Given the description of an element on the screen output the (x, y) to click on. 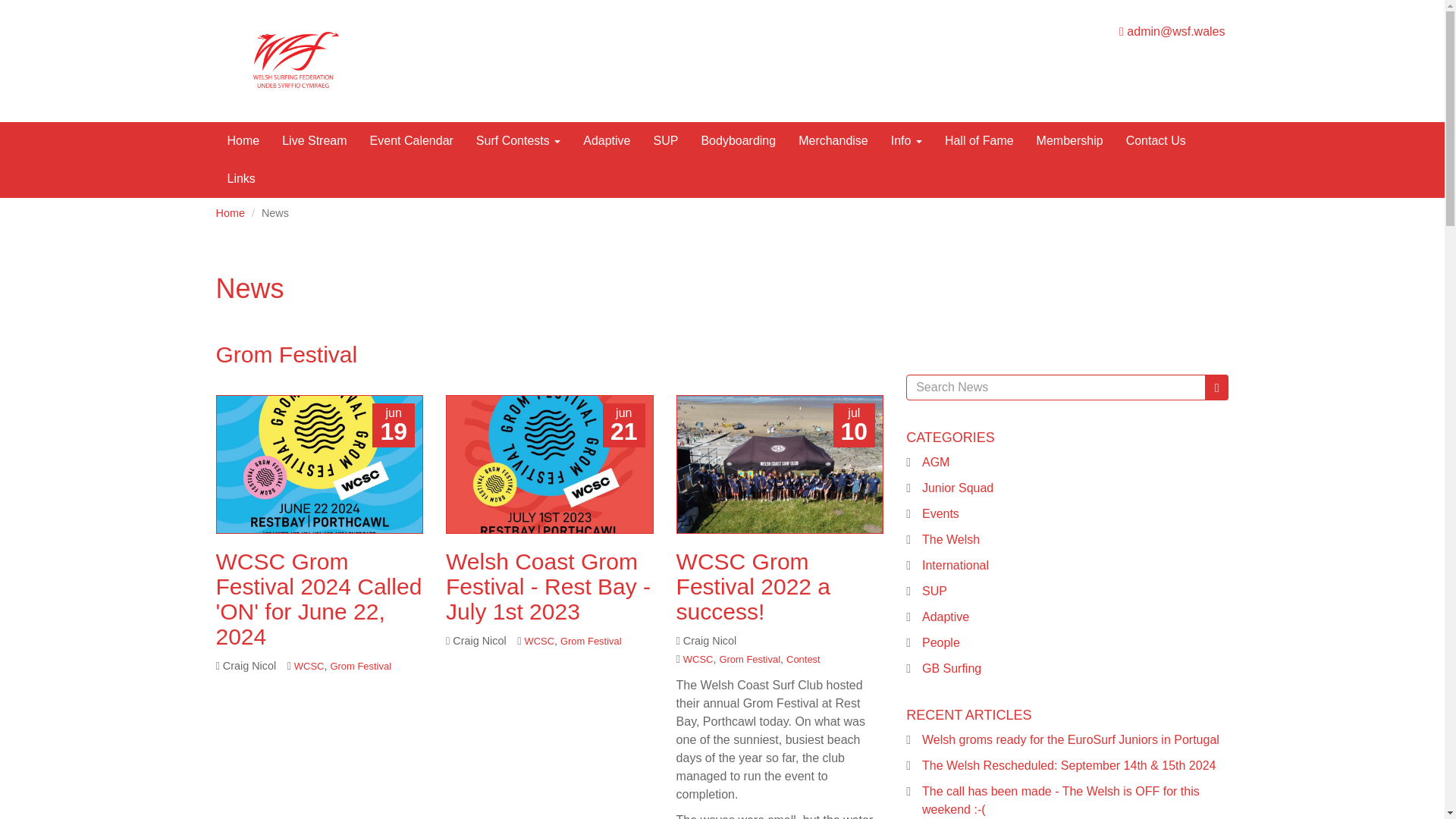
WCSC Grom Festival 2024 Called 'ON' for June 22, 2024 (318, 598)
Hall of Fame (979, 140)
Home (242, 140)
SUP (665, 140)
Live Stream (314, 140)
Merchandise (833, 140)
Bodyboarding (737, 140)
Home (242, 140)
Membership (1070, 140)
Contact Us (1155, 140)
